Given the description of an element on the screen output the (x, y) to click on. 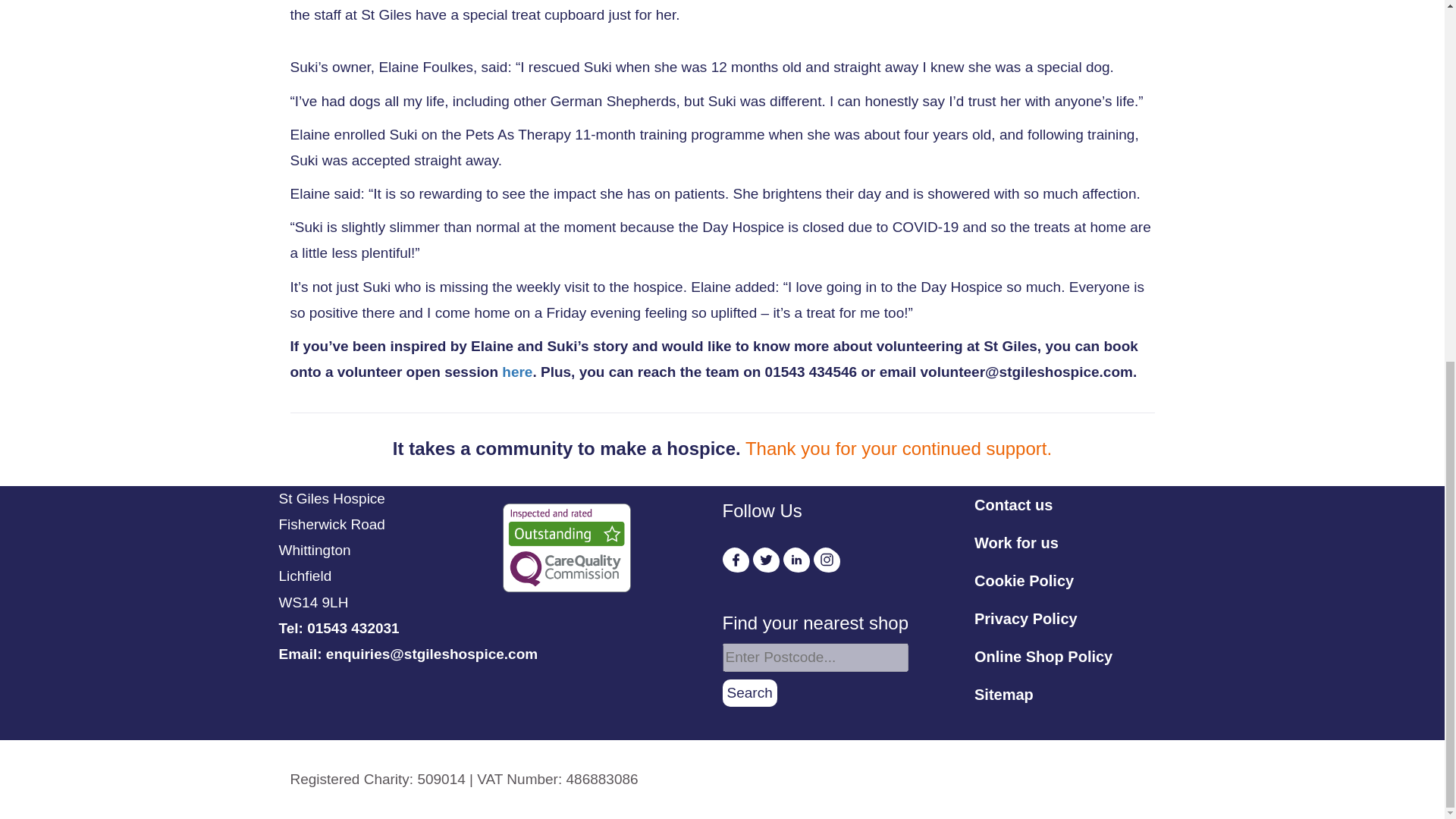
Twitter (765, 559)
Instagram (826, 559)
Suki Blob (1017, 6)
Facebook (735, 559)
Page 1 (463, 779)
Search (749, 692)
LinkedIn (796, 559)
